Given the description of an element on the screen output the (x, y) to click on. 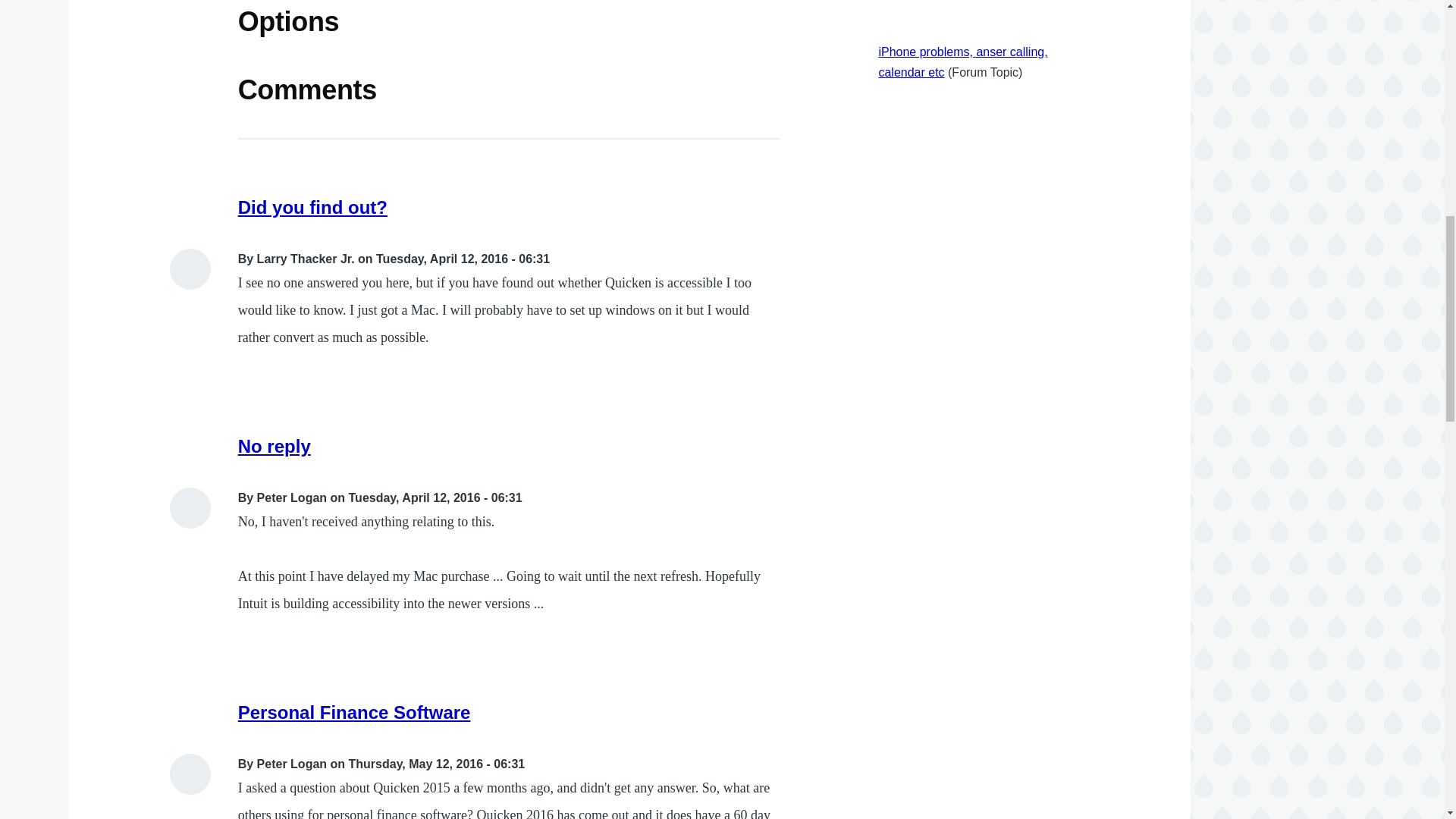
iPhone problems, anser calling, calendar etc (961, 61)
Did you find out? (312, 207)
No reply (274, 445)
Personal Finance Software (354, 711)
